Given the description of an element on the screen output the (x, y) to click on. 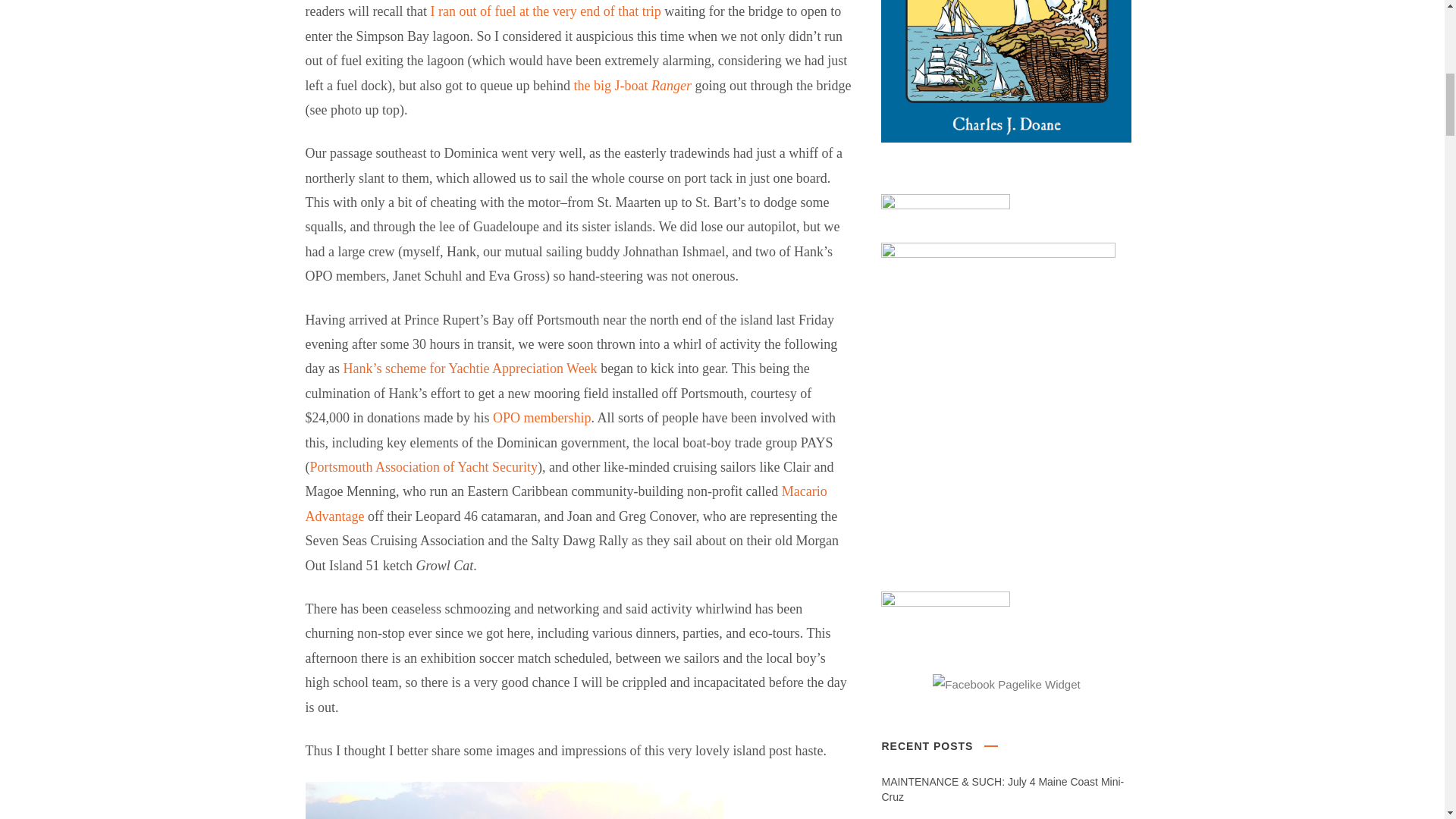
I ran out of fuel at the very end of that trip (545, 11)
Portsmouth Association of Yacht Security (422, 467)
OPO link (542, 417)
WaveTrain link (469, 368)
OPO membership (542, 417)
the big J-boat Ranger (631, 85)
WaveTrain link (545, 11)
Ranger link (631, 85)
Macario Advantage (565, 503)
